Given the description of an element on the screen output the (x, y) to click on. 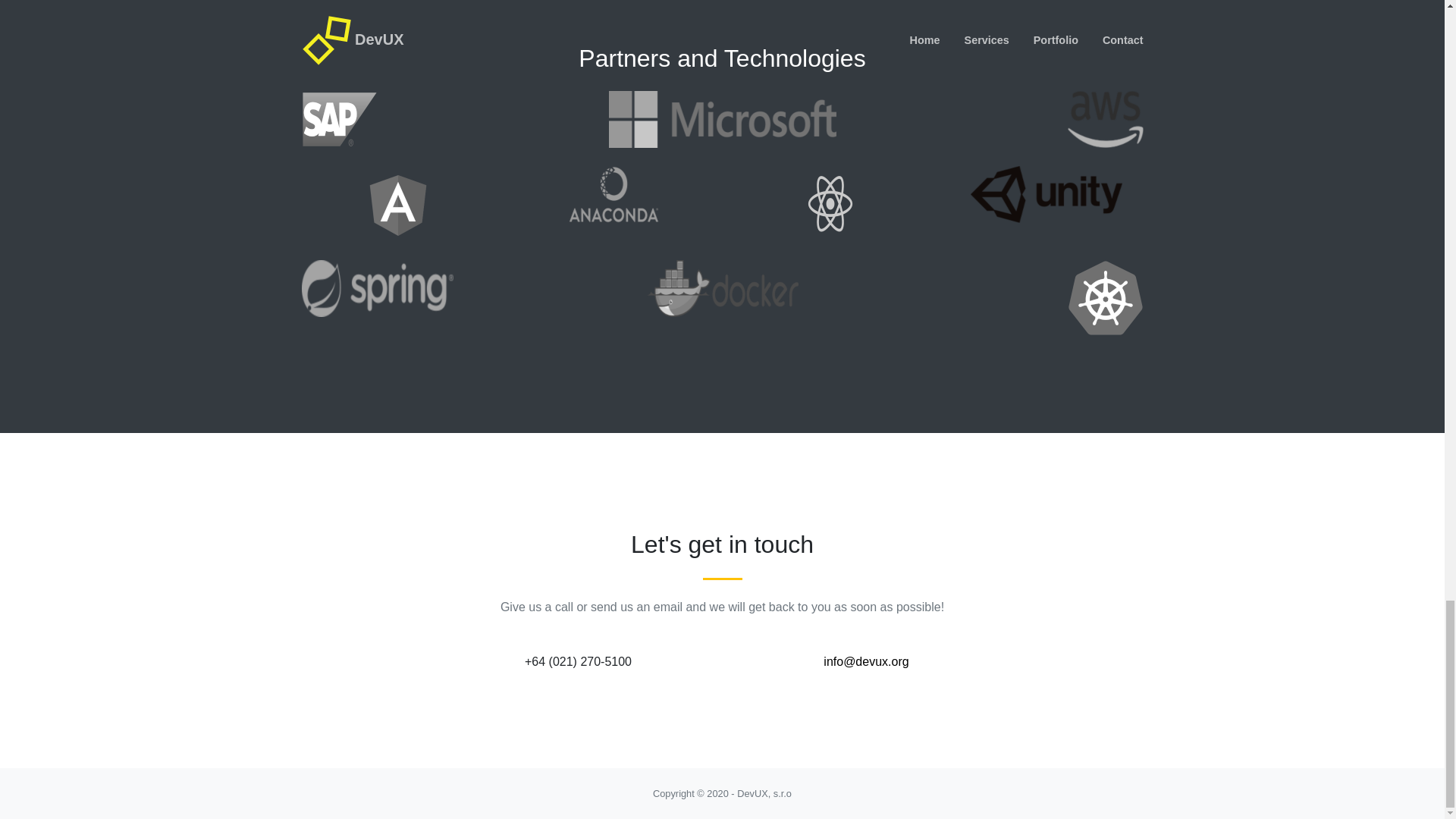
Spring framework (376, 288)
Anaconda - data science platform (614, 194)
Unity 3D framework (1046, 194)
Kubernetes (1104, 297)
SAP (339, 119)
Microsoft (721, 119)
Docker (721, 288)
AngularJS (397, 203)
Amazon (1104, 119)
React (829, 203)
